Given the description of an element on the screen output the (x, y) to click on. 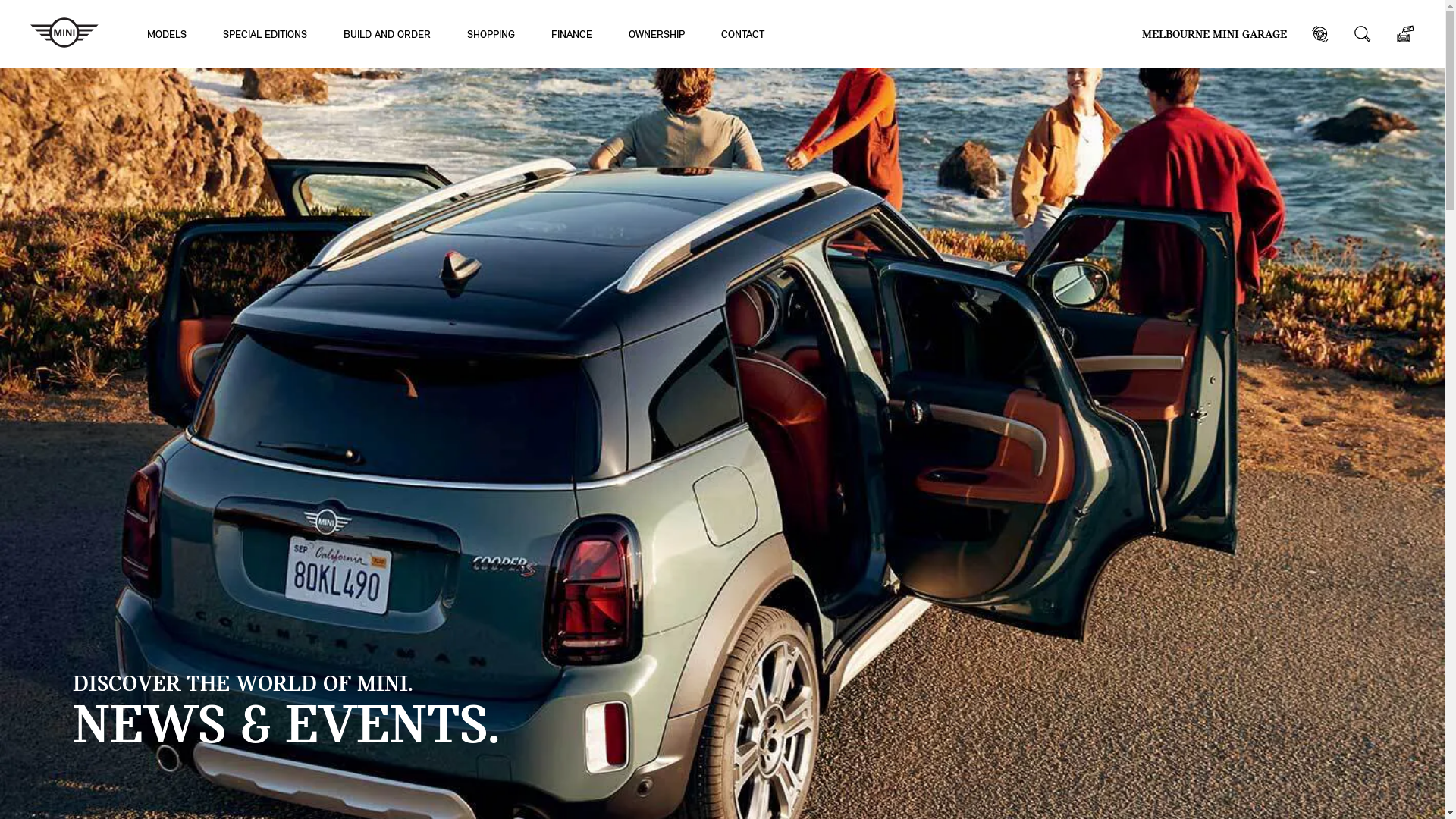
BUILD AND ORDER Element type: text (386, 33)
